Given the description of an element on the screen output the (x, y) to click on. 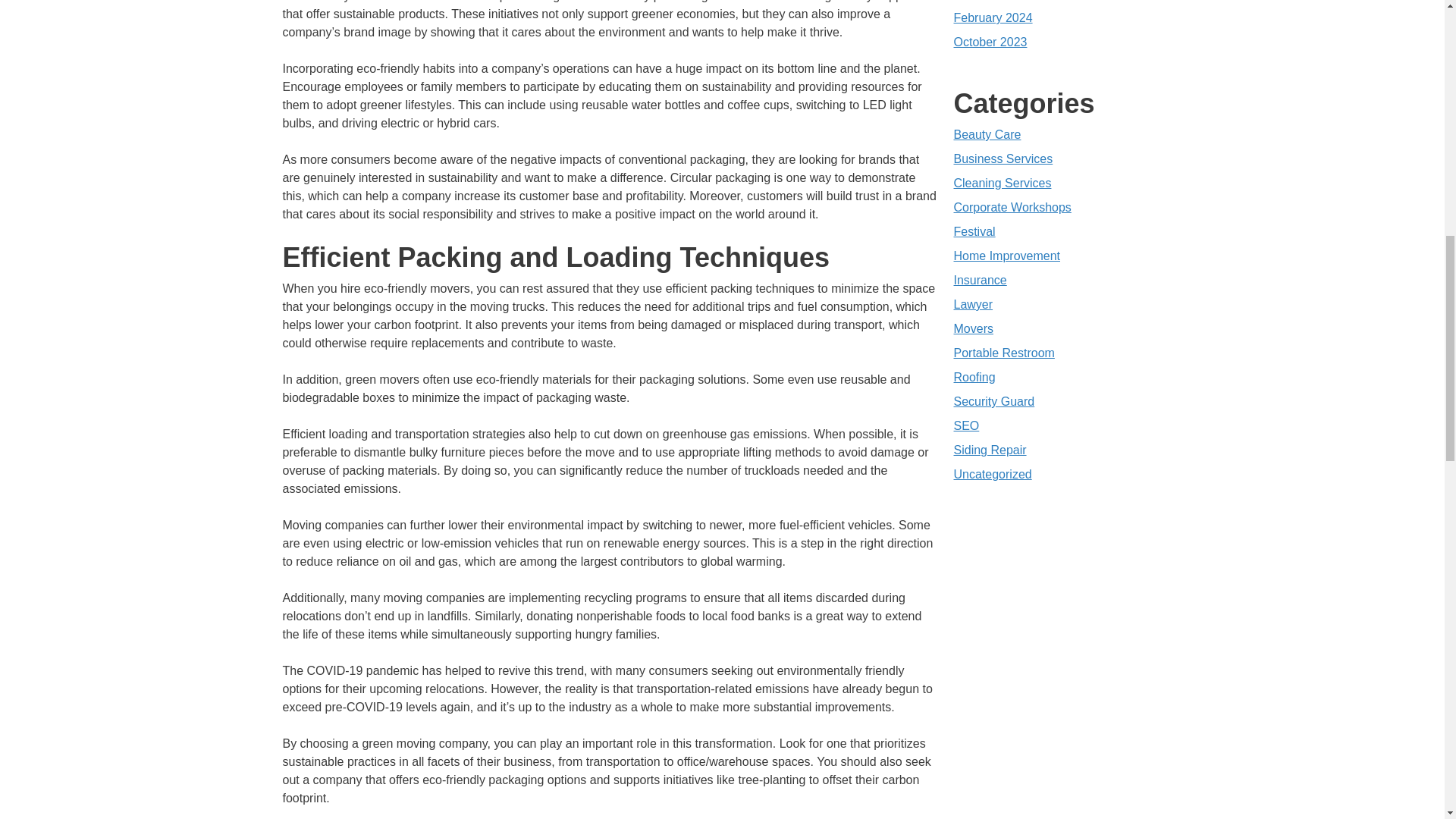
Cleaning Services (1002, 182)
Business Services (1002, 158)
October 2023 (990, 42)
Security Guard (994, 400)
Festival (974, 231)
Uncategorized (992, 473)
Insurance (980, 279)
Corporate Workshops (1012, 206)
SEO (966, 425)
Beauty Care (987, 133)
Portable Restroom (1003, 352)
Home Improvement (1007, 255)
Roofing (974, 377)
Movers (972, 328)
Siding Repair (989, 449)
